Given the description of an element on the screen output the (x, y) to click on. 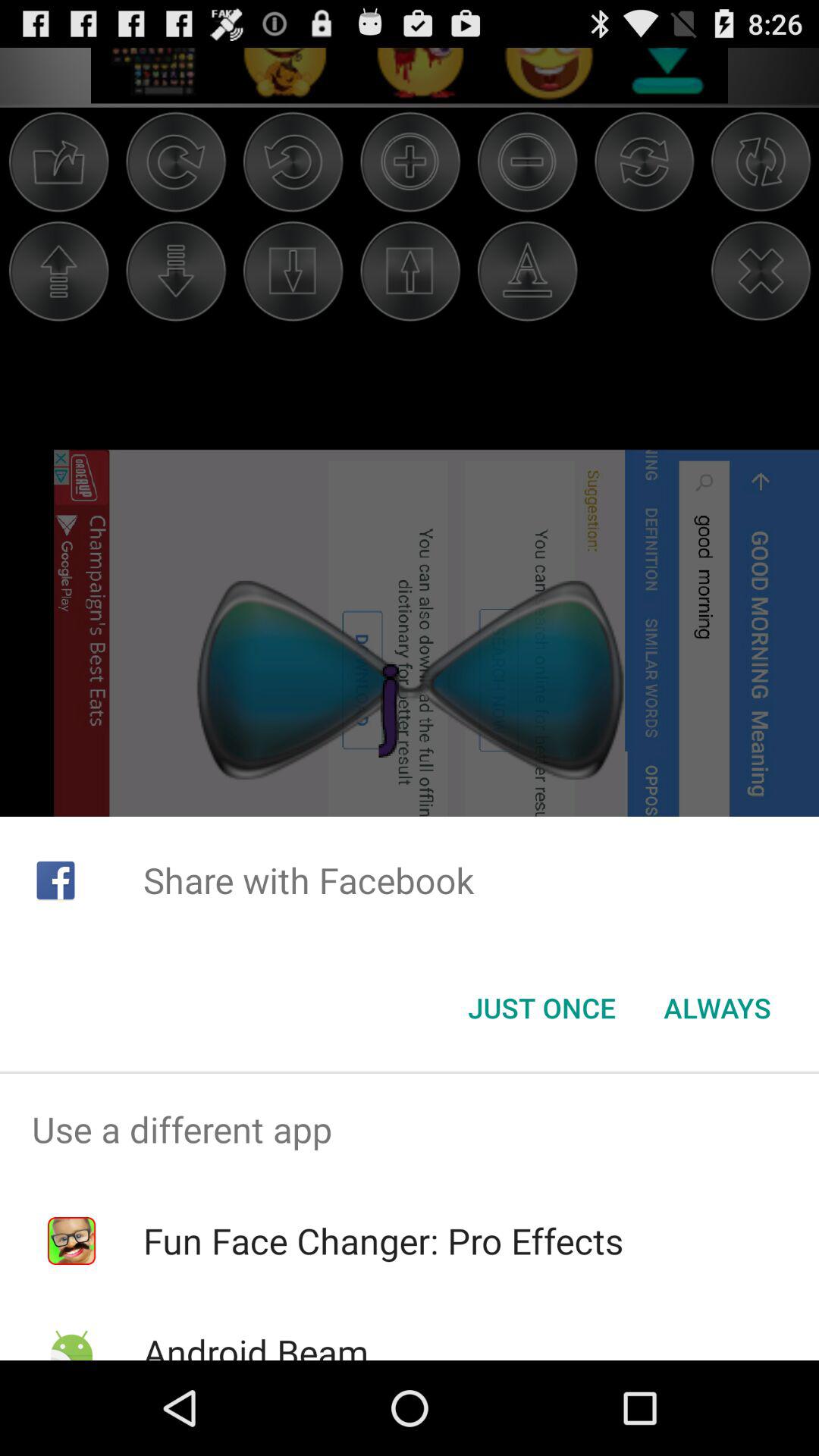
click button to the right of the just once button (717, 1007)
